Given the description of an element on the screen output the (x, y) to click on. 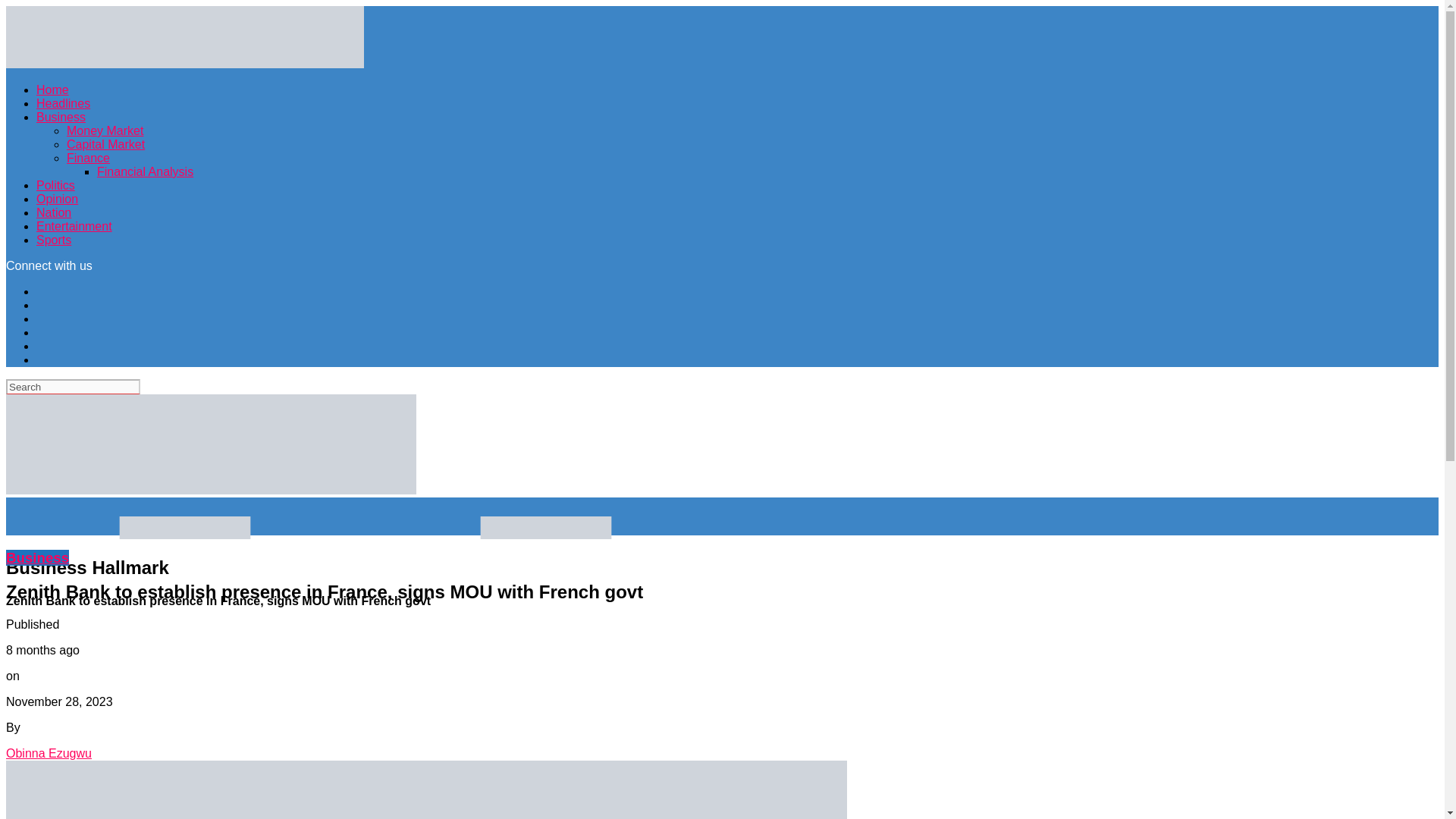
Opinion (57, 198)
Nation (53, 212)
Home (52, 89)
Search (72, 386)
Finance (88, 157)
Business (60, 116)
Headlines (63, 103)
Politics (55, 185)
Financial Analysis (145, 171)
Sports (53, 239)
Capital Market (105, 144)
Money Market (104, 130)
Entertainment (74, 226)
